Given the description of an element on the screen output the (x, y) to click on. 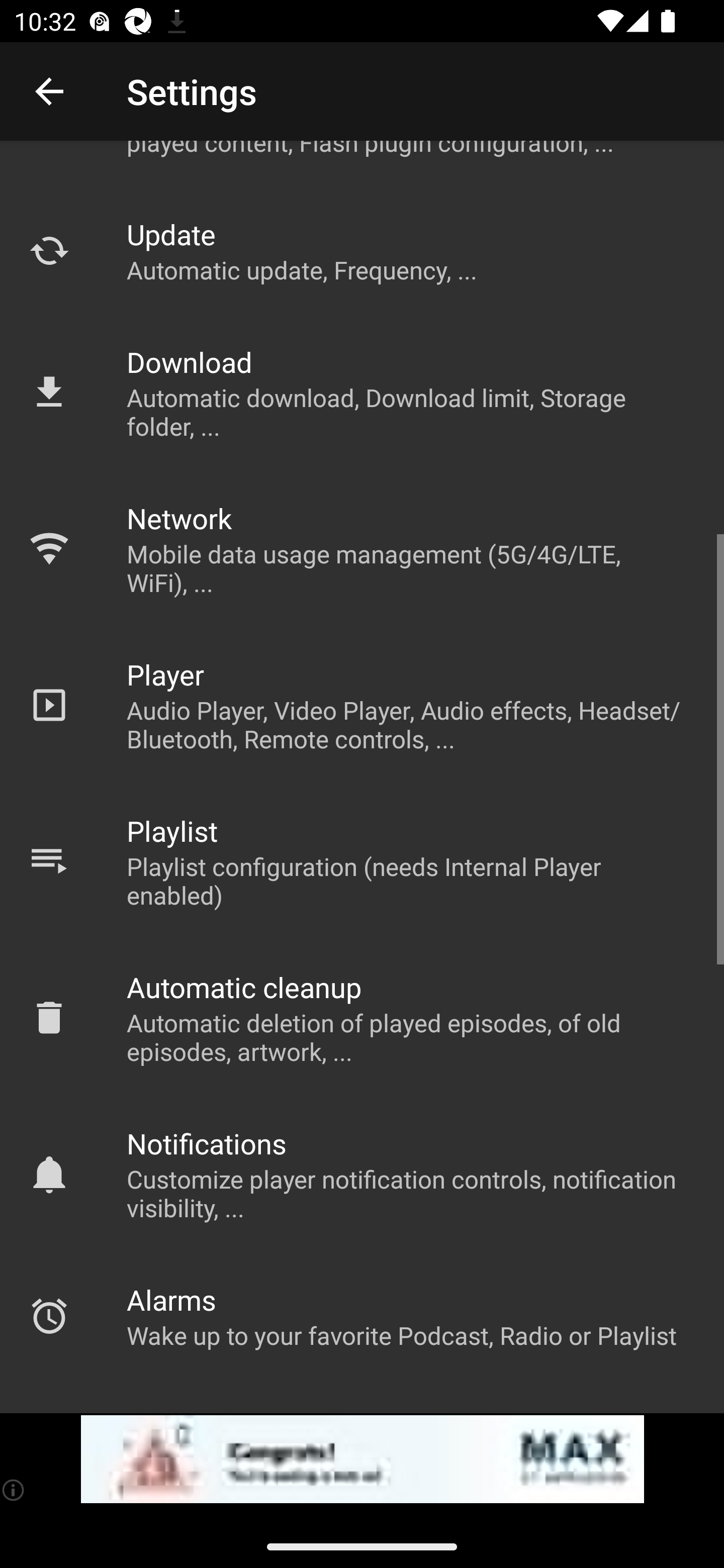
Navigate up (49, 91)
Update Automatic update, Frequency, ... (362, 250)
app-monetization (362, 1459)
(i) (14, 1489)
